Given the description of an element on the screen output the (x, y) to click on. 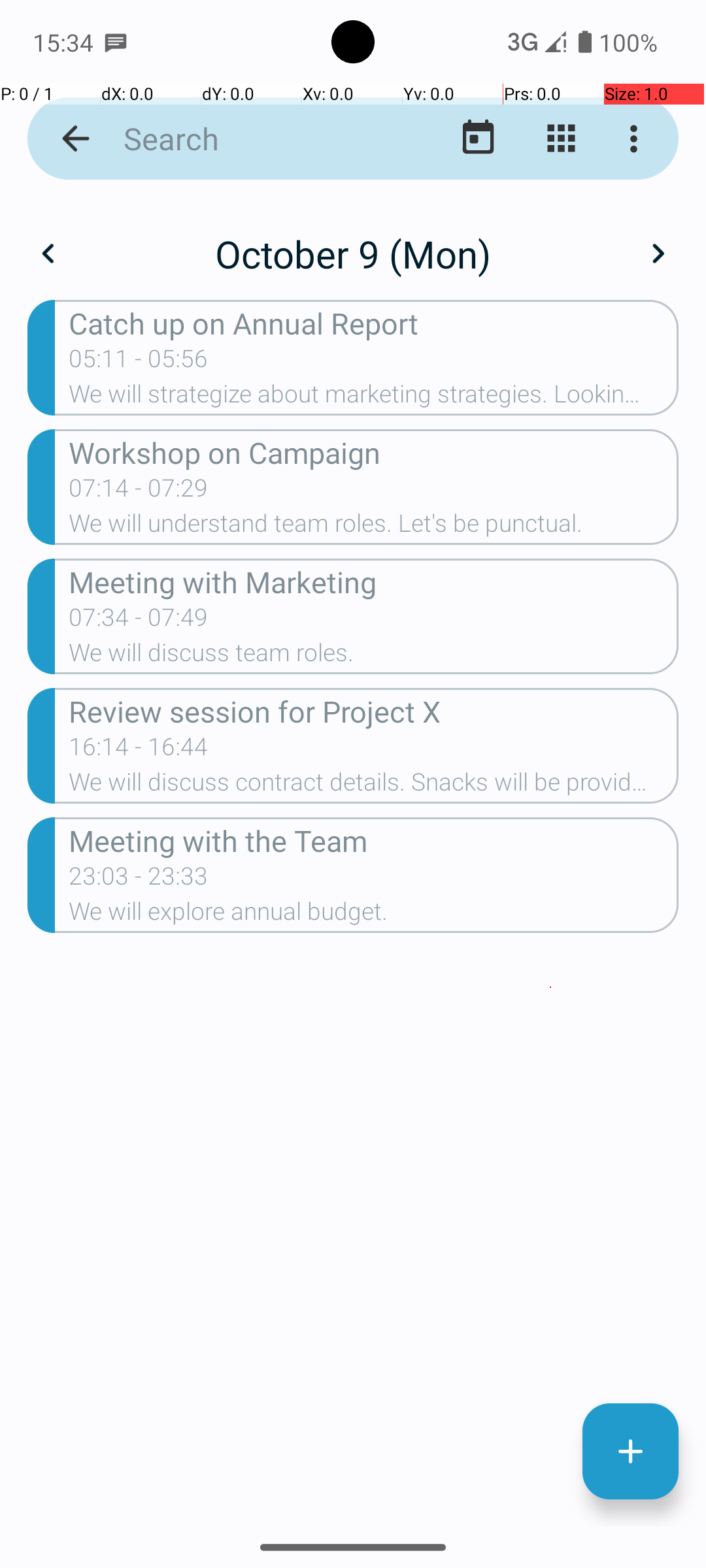
October 9 (Mon) Element type: android.widget.TextView (352, 253)
05:11 - 05:56 Element type: android.widget.TextView (137, 362)
We will strategize about marketing strategies. Looking forward to productive discussions. Element type: android.widget.TextView (373, 397)
Workshop on Campaign Element type: android.widget.TextView (373, 451)
07:14 - 07:29 Element type: android.widget.TextView (137, 491)
We will understand team roles. Let's be punctual. Element type: android.widget.TextView (373, 526)
Meeting with Marketing Element type: android.widget.TextView (373, 580)
07:34 - 07:49 Element type: android.widget.TextView (137, 620)
We will discuss team roles. Element type: android.widget.TextView (373, 656)
Review session for Project X Element type: android.widget.TextView (373, 710)
16:14 - 16:44 Element type: android.widget.TextView (137, 750)
We will discuss contract details. Snacks will be provided. Element type: android.widget.TextView (373, 785)
Meeting with the Team Element type: android.widget.TextView (373, 839)
23:03 - 23:33 Element type: android.widget.TextView (137, 879)
We will explore annual budget. Element type: android.widget.TextView (373, 914)
